Given the description of an element on the screen output the (x, y) to click on. 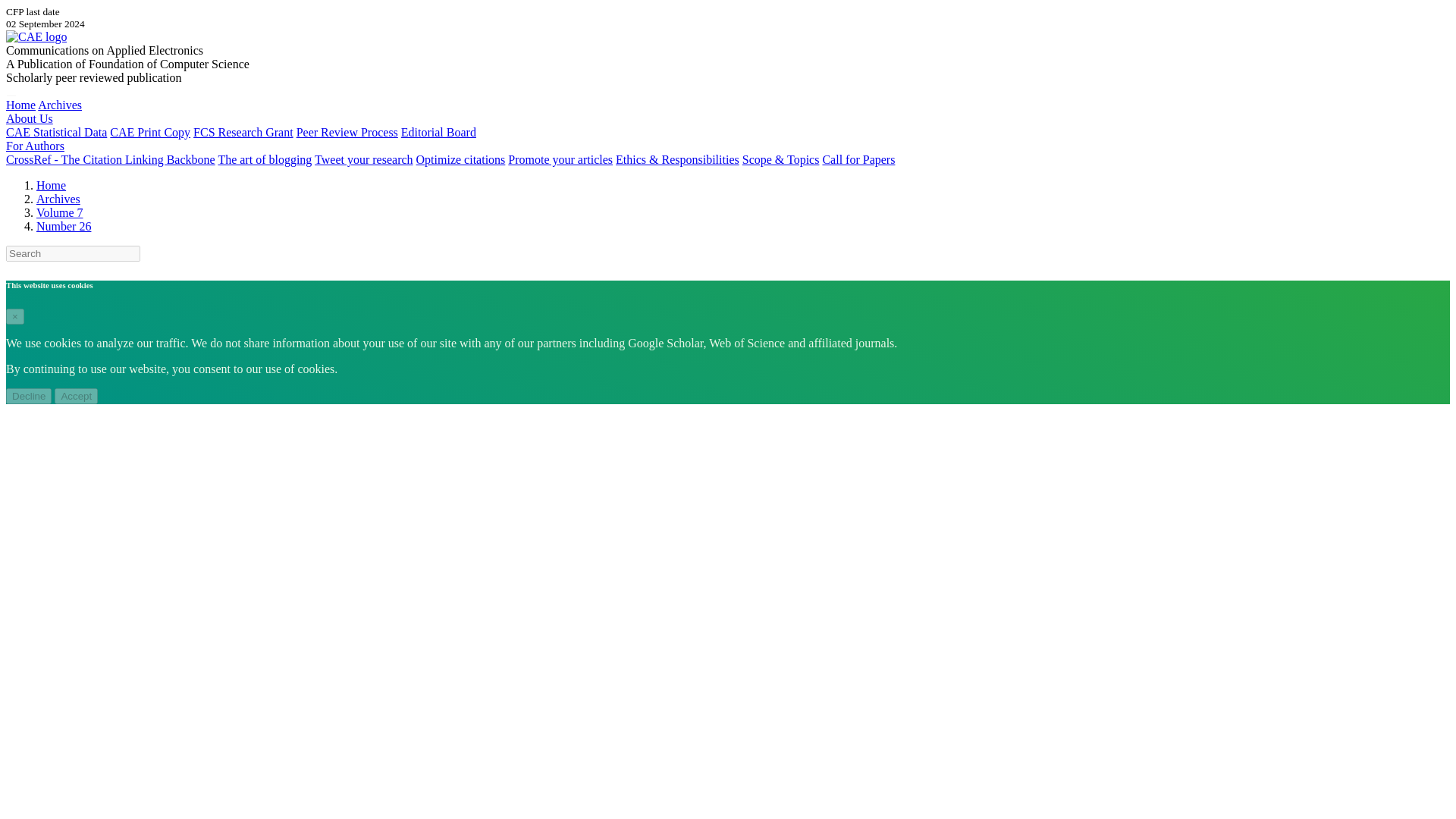
Peer Review Process (347, 132)
Editorial Board (438, 132)
Promote your articles (560, 159)
Tweet your research (363, 159)
CAE Print Copy (150, 132)
Home (19, 104)
Number 26 (63, 226)
For Authors (34, 145)
CAE Statistical Data (55, 132)
Archives (59, 104)
